Given the description of an element on the screen output the (x, y) to click on. 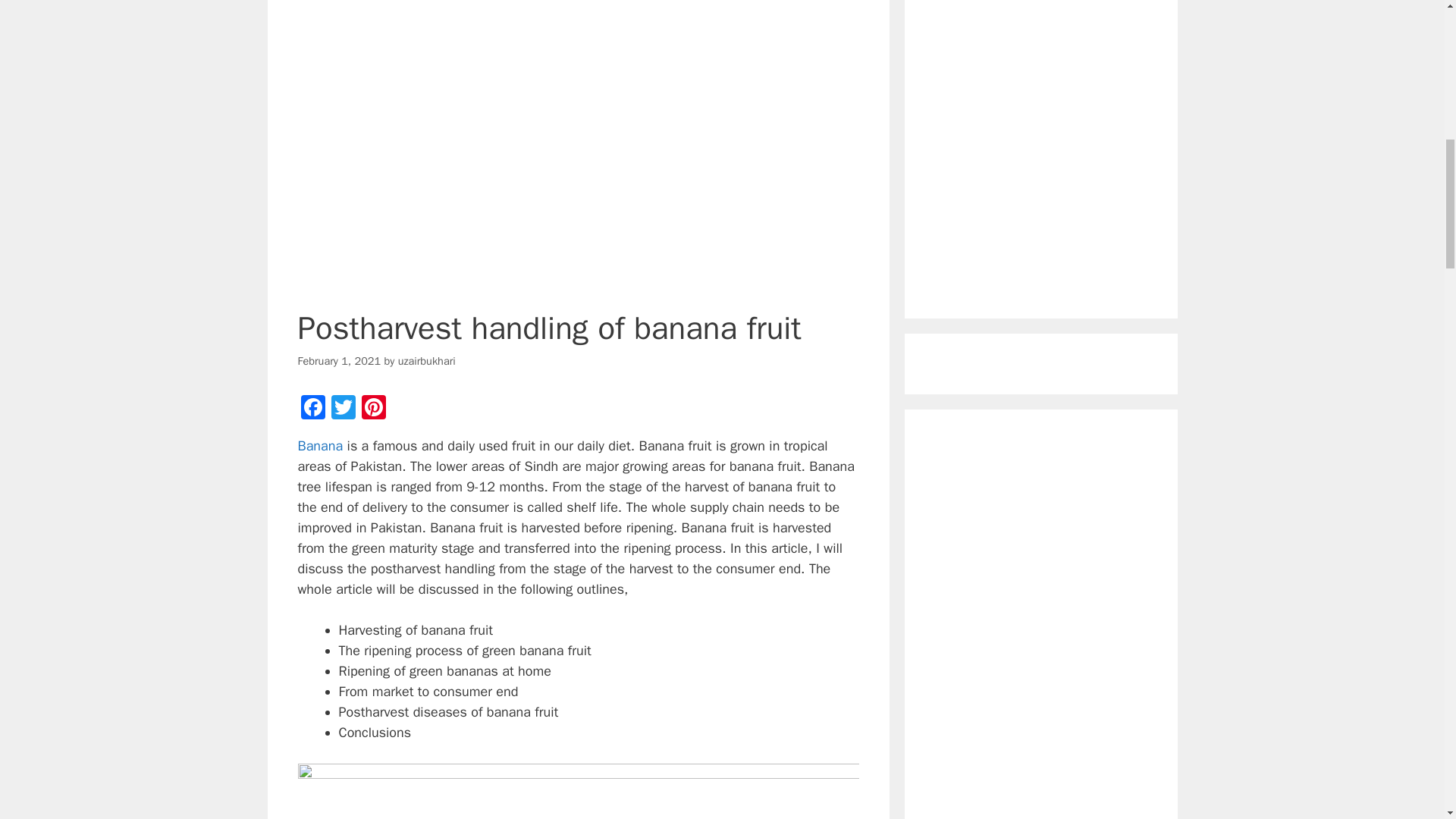
Twitter (342, 409)
Pinterest (373, 409)
Banana (319, 445)
uzairbukhari (426, 360)
Facebook (312, 409)
Twitter (342, 409)
Facebook (312, 409)
Pinterest (373, 409)
View all posts by uzairbukhari (426, 360)
